Given the description of an element on the screen output the (x, y) to click on. 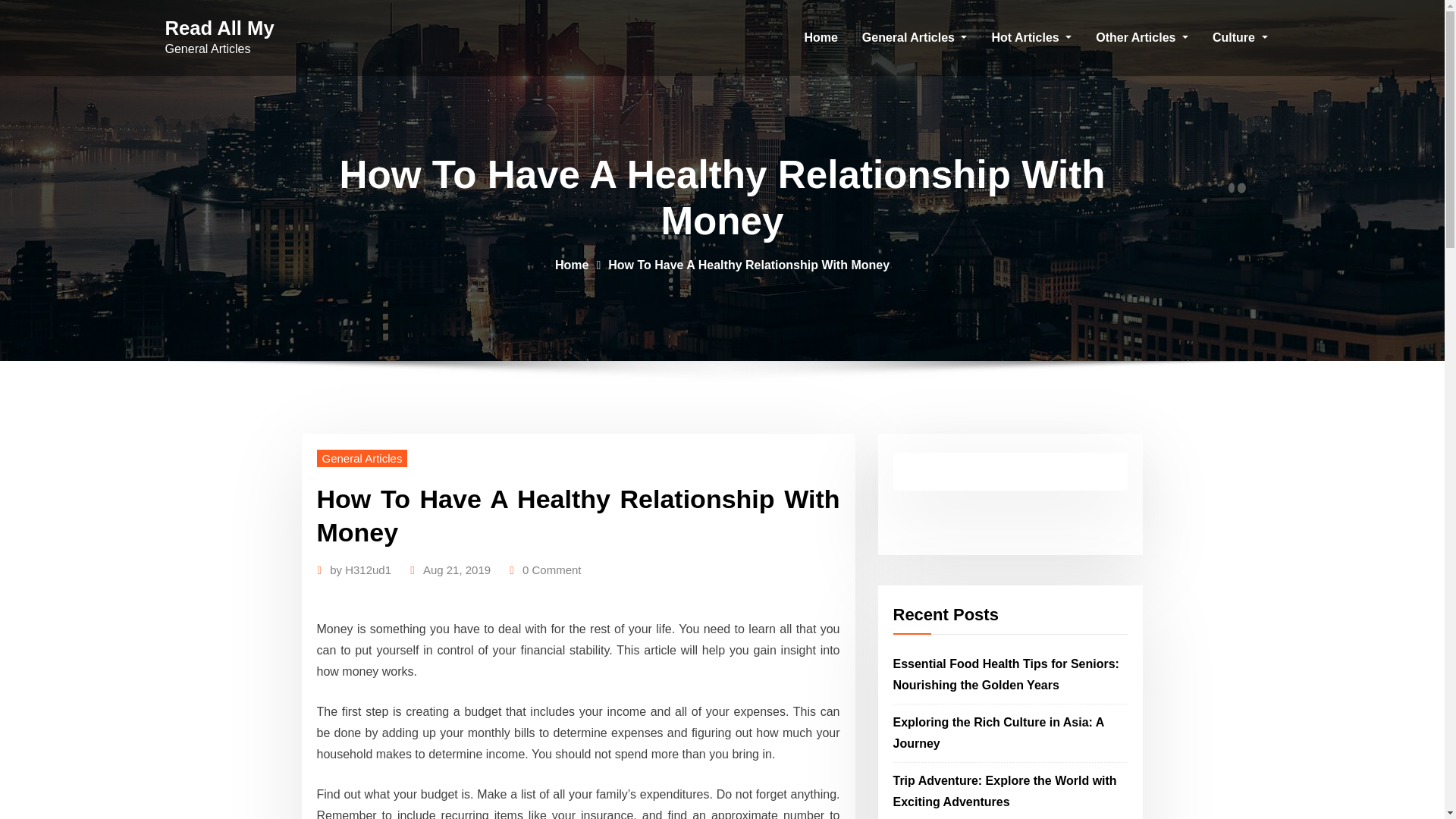
Other Articles (1141, 38)
0 Comment (551, 569)
Trip Adventure: Explore the World with Exciting Adventures (1004, 790)
Hot Articles (1030, 38)
Culture (1239, 38)
by H312ud1 (360, 569)
Home (571, 264)
Exploring the Rich Culture in Asia: A Journey (998, 732)
General Articles (362, 457)
